Given the description of an element on the screen output the (x, y) to click on. 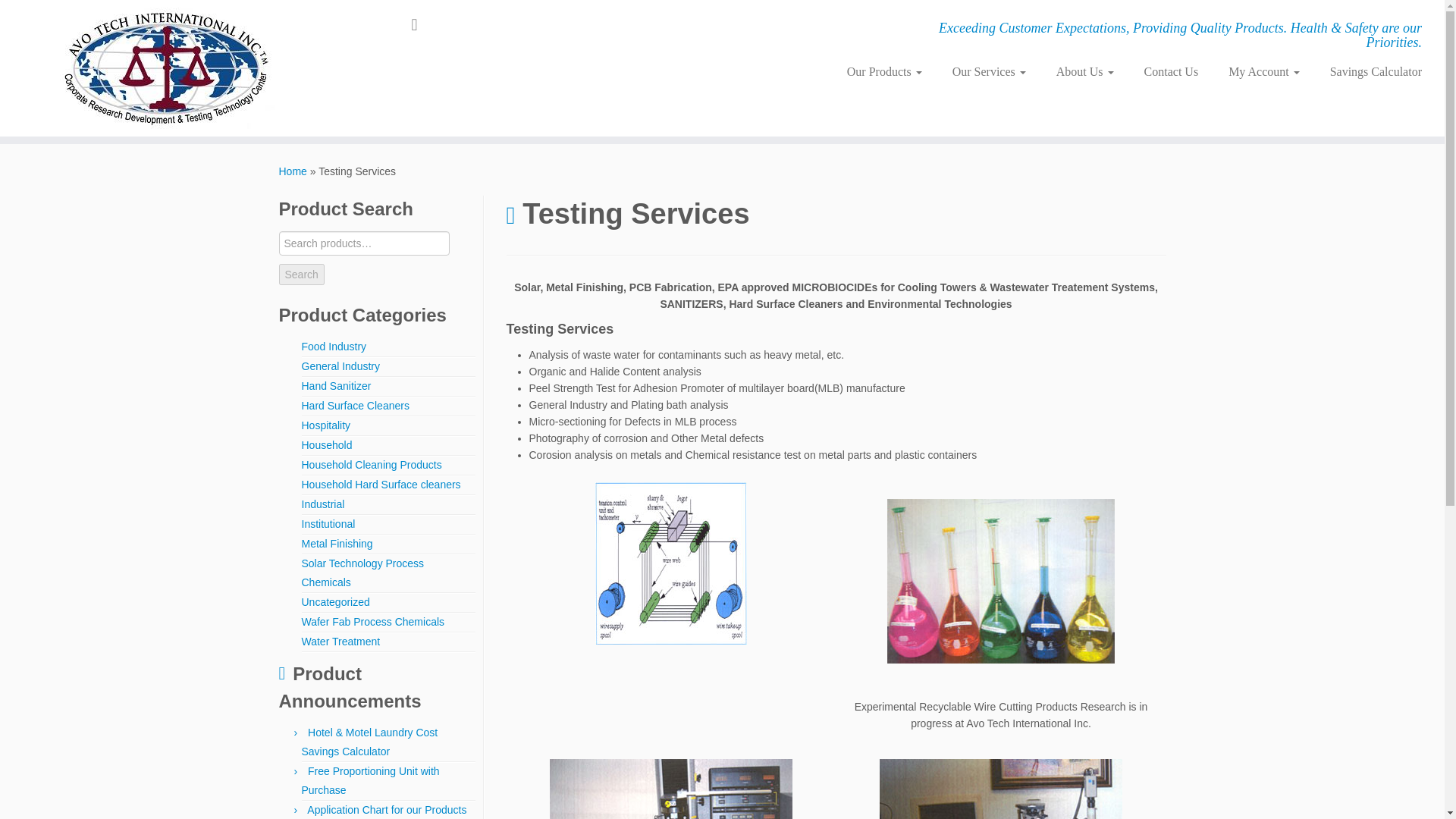
2de42 (1000, 789)
solar200de42 (670, 563)
Food Industry (333, 346)
View your shopping cart (422, 23)
About Us (1085, 71)
Search (301, 274)
AvoTech International Inc. (293, 171)
My Account (1263, 71)
1de42 (670, 789)
Home (293, 171)
Savings Calculator (1368, 71)
Contact Us (1171, 71)
bottles300de42 (1000, 605)
Our Services (989, 71)
